Given the description of an element on the screen output the (x, y) to click on. 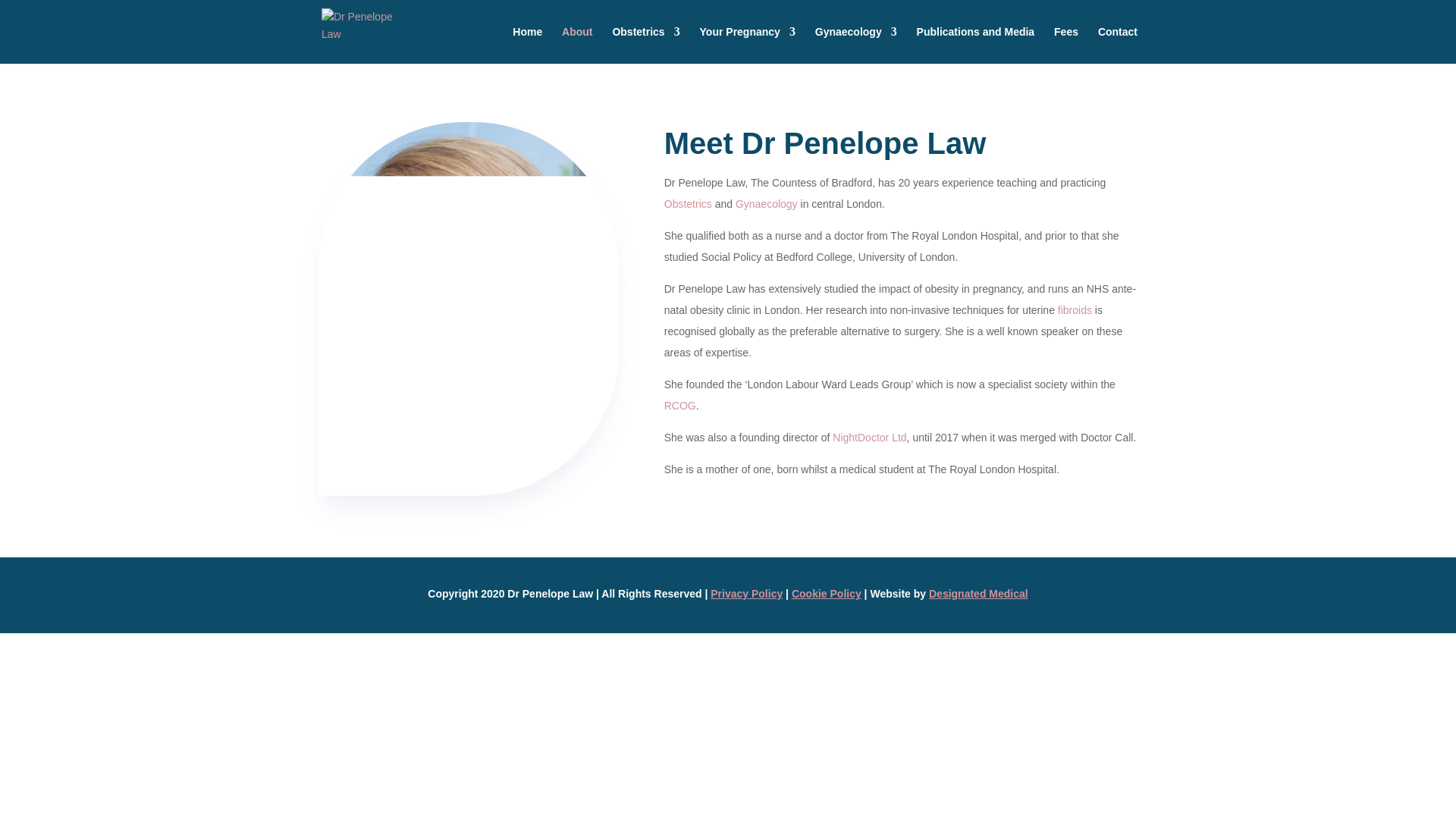
Contact (1117, 44)
Publications and Media (976, 44)
Obstetrics (645, 44)
Gynaecology  (767, 203)
Night Doctor London (868, 437)
Cookie Policy (826, 593)
Obstetrics (687, 203)
Obstetrics (687, 203)
RCOG (679, 405)
Fibroids (1075, 309)
Gynaecology (855, 44)
Gynaecology (767, 203)
fibroids (1075, 309)
Privacy Policy (746, 593)
NightDoctor Ltd (868, 437)
